Given the description of an element on the screen output the (x, y) to click on. 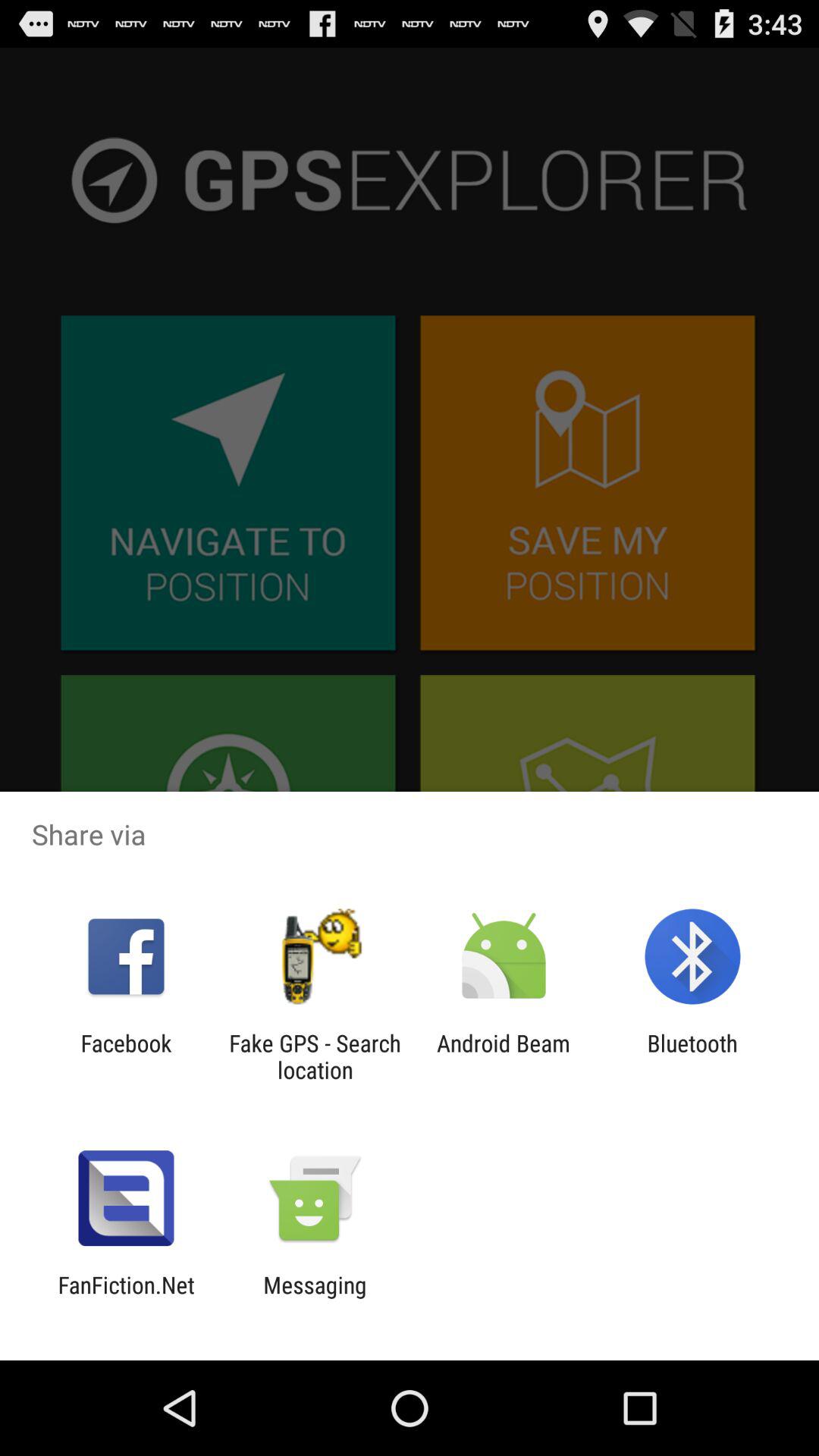
click item next to the fanfiction.net icon (314, 1298)
